Given the description of an element on the screen output the (x, y) to click on. 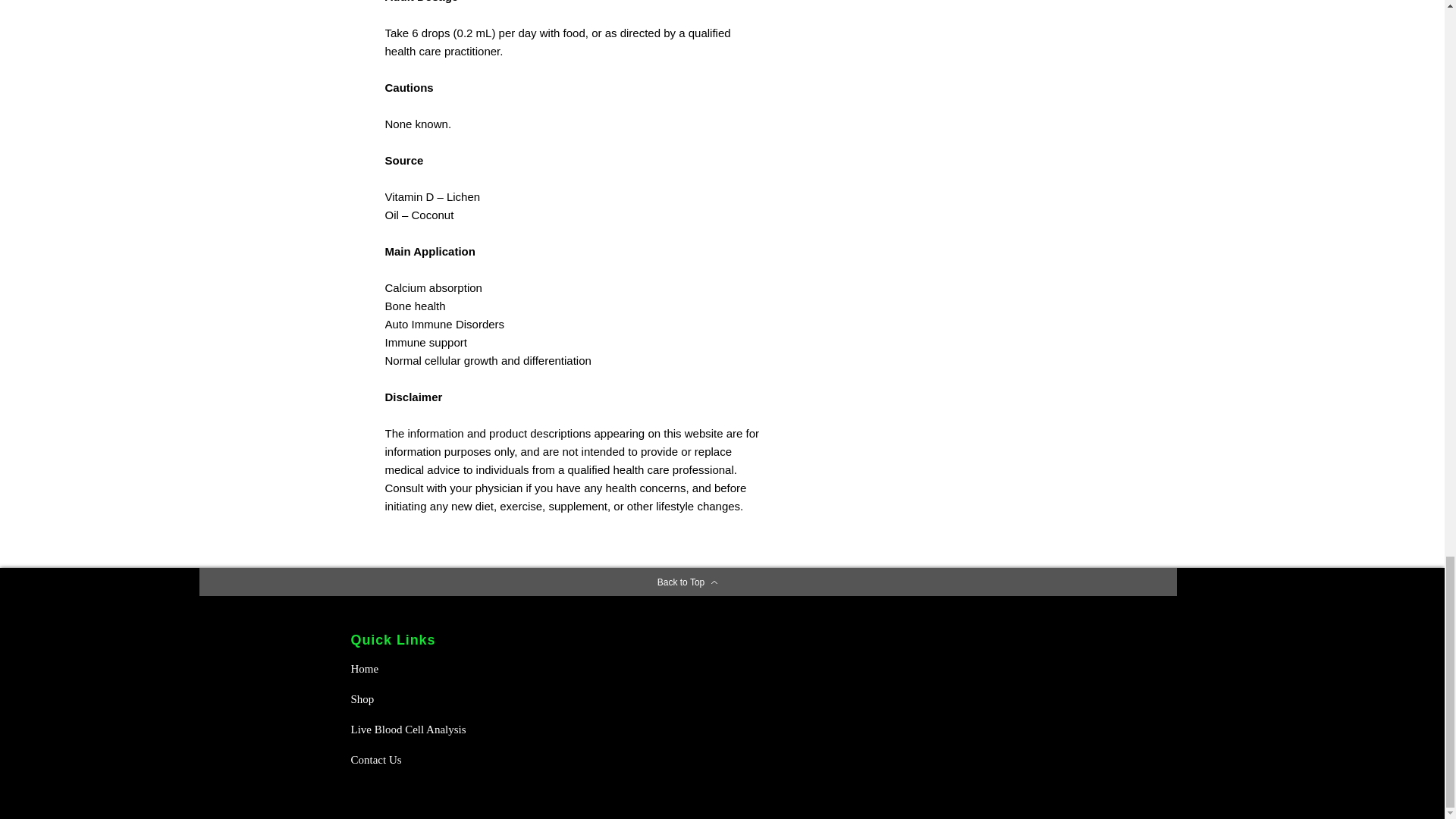
Back to Top (687, 582)
Home (403, 668)
Shop (403, 698)
Live Blood Cell Analysis (412, 729)
Contact Us (403, 759)
